Given the description of an element on the screen output the (x, y) to click on. 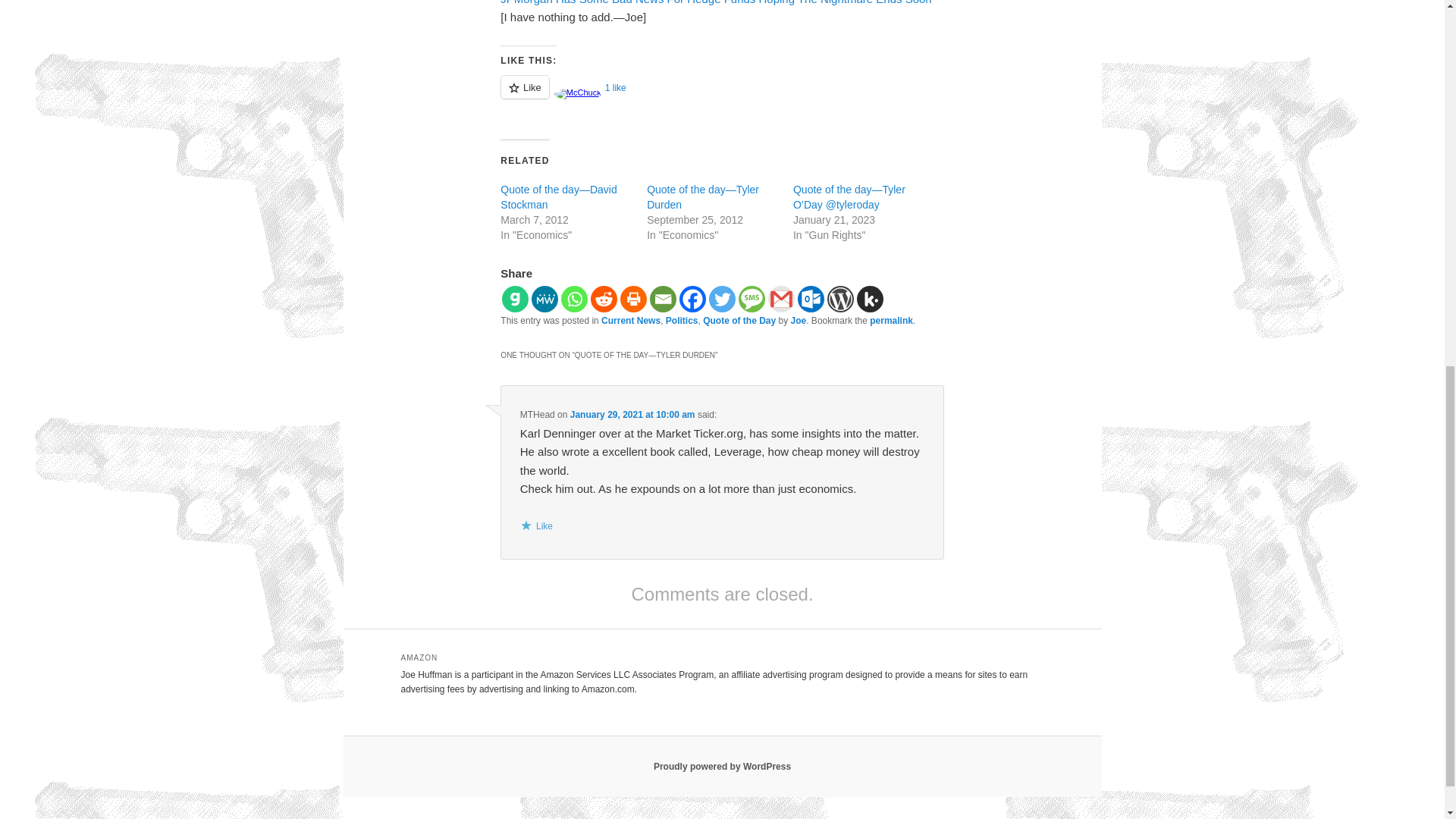
January 29, 2021 at 10:00 am (632, 414)
Whatsapp (574, 298)
Print (633, 298)
Proudly powered by WordPress (721, 766)
Like or Reblog (721, 96)
Current News (631, 320)
Joe (798, 320)
Reddit (604, 298)
Politics (681, 320)
MeWe (544, 298)
permalink (890, 320)
Quote of the Day (739, 320)
Gab (515, 298)
Email (663, 298)
